Given the description of an element on the screen output the (x, y) to click on. 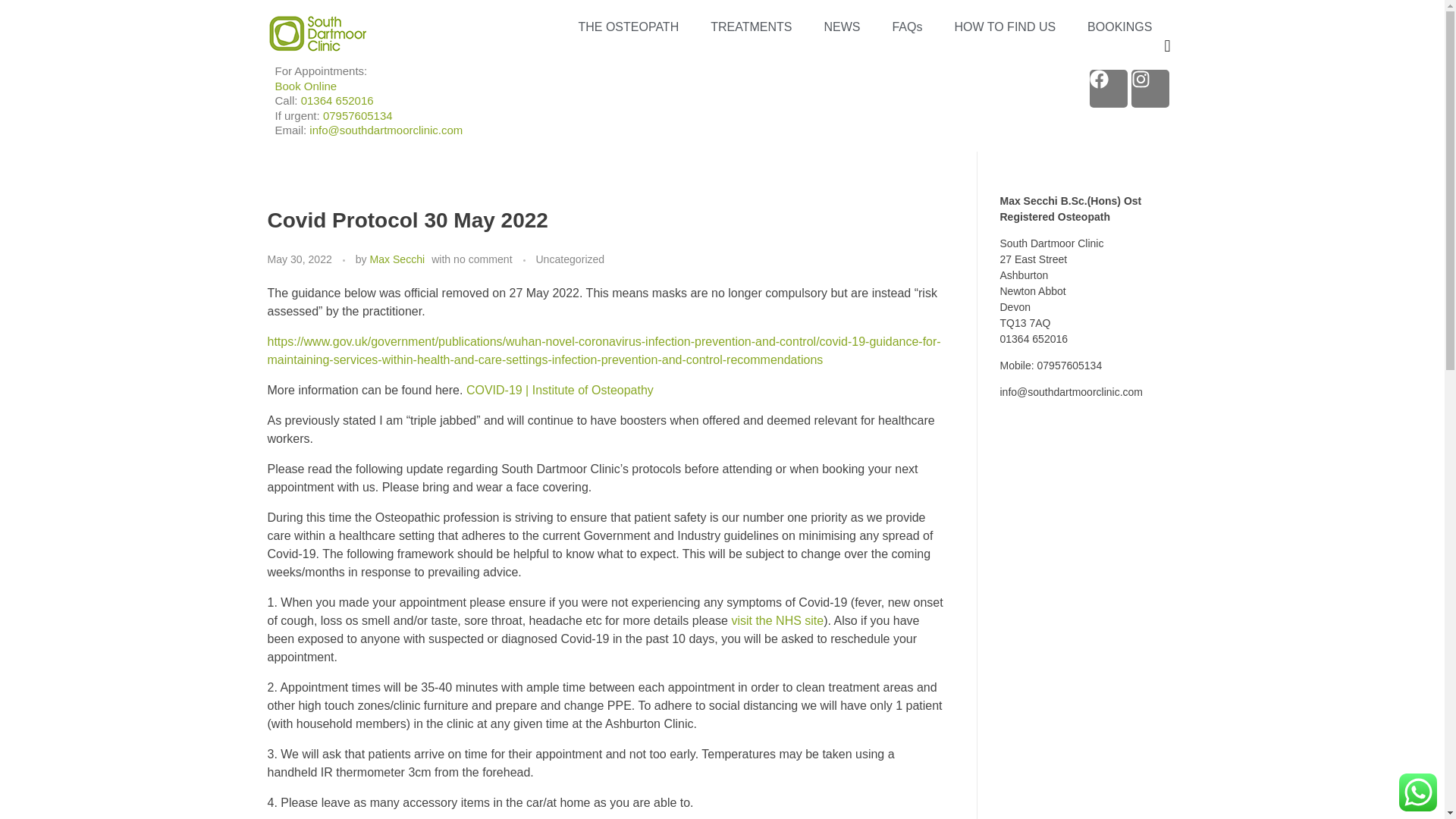
07957605134 (358, 115)
01364 652016 (337, 100)
South Dartmoor Clinic (316, 33)
BOOKINGS (1111, 27)
visit the NHS site (777, 620)
WhatsApp Me (1418, 792)
FAQs (906, 27)
Uncategorized (569, 259)
THE OSTEOPATH (636, 27)
Max Secchi (397, 259)
HOW TO FIND US (1004, 27)
View all posts in Uncategorized (569, 259)
Book Online (305, 84)
TREATMENTS (751, 27)
South Dartmoor Clinic (363, 65)
